Given the description of an element on the screen output the (x, y) to click on. 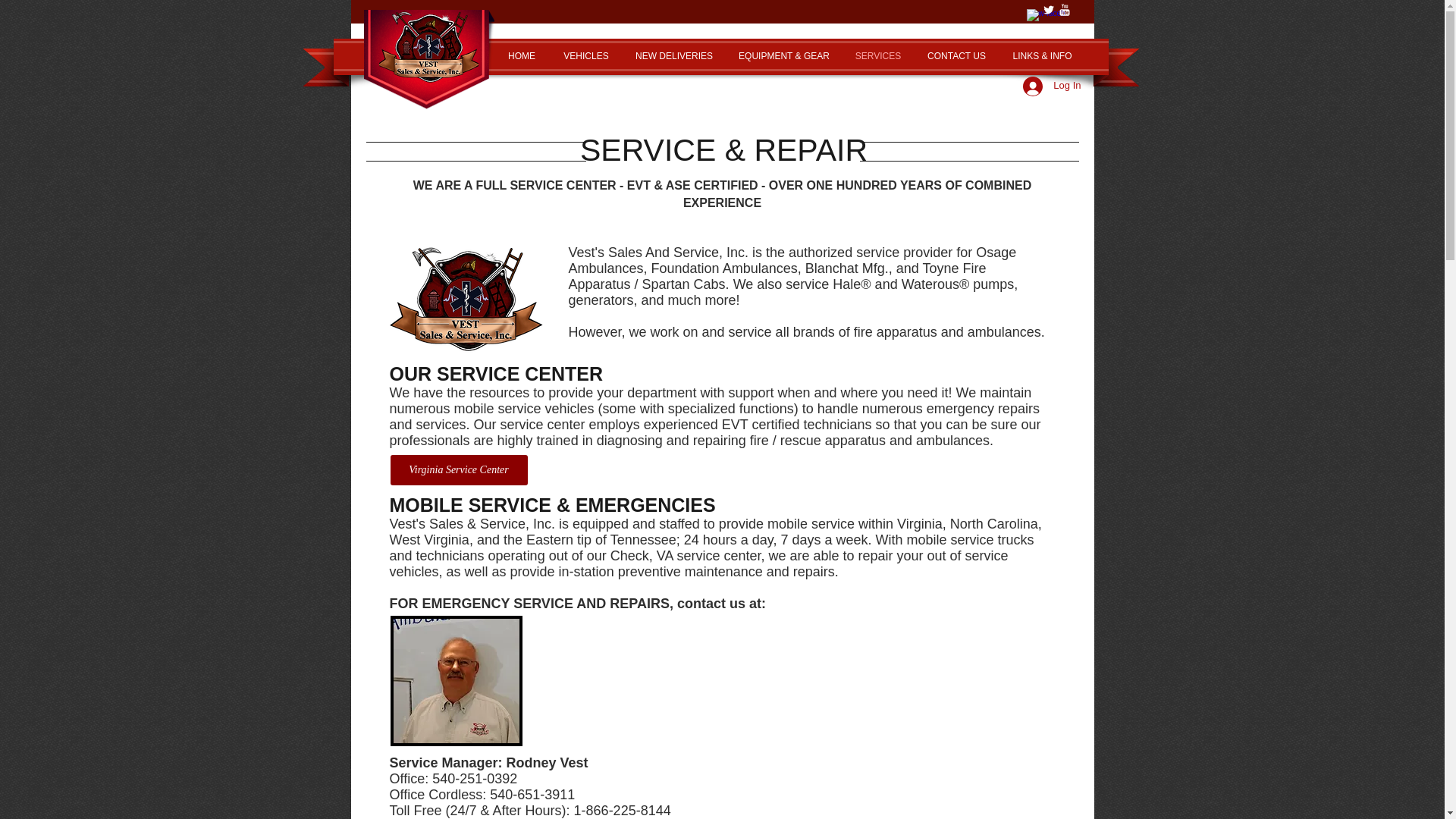
VEHICLES (586, 55)
HOME (521, 55)
CONTACT US (956, 55)
NEW DELIVERIES (673, 55)
SERVICES (877, 55)
